Given the description of an element on the screen output the (x, y) to click on. 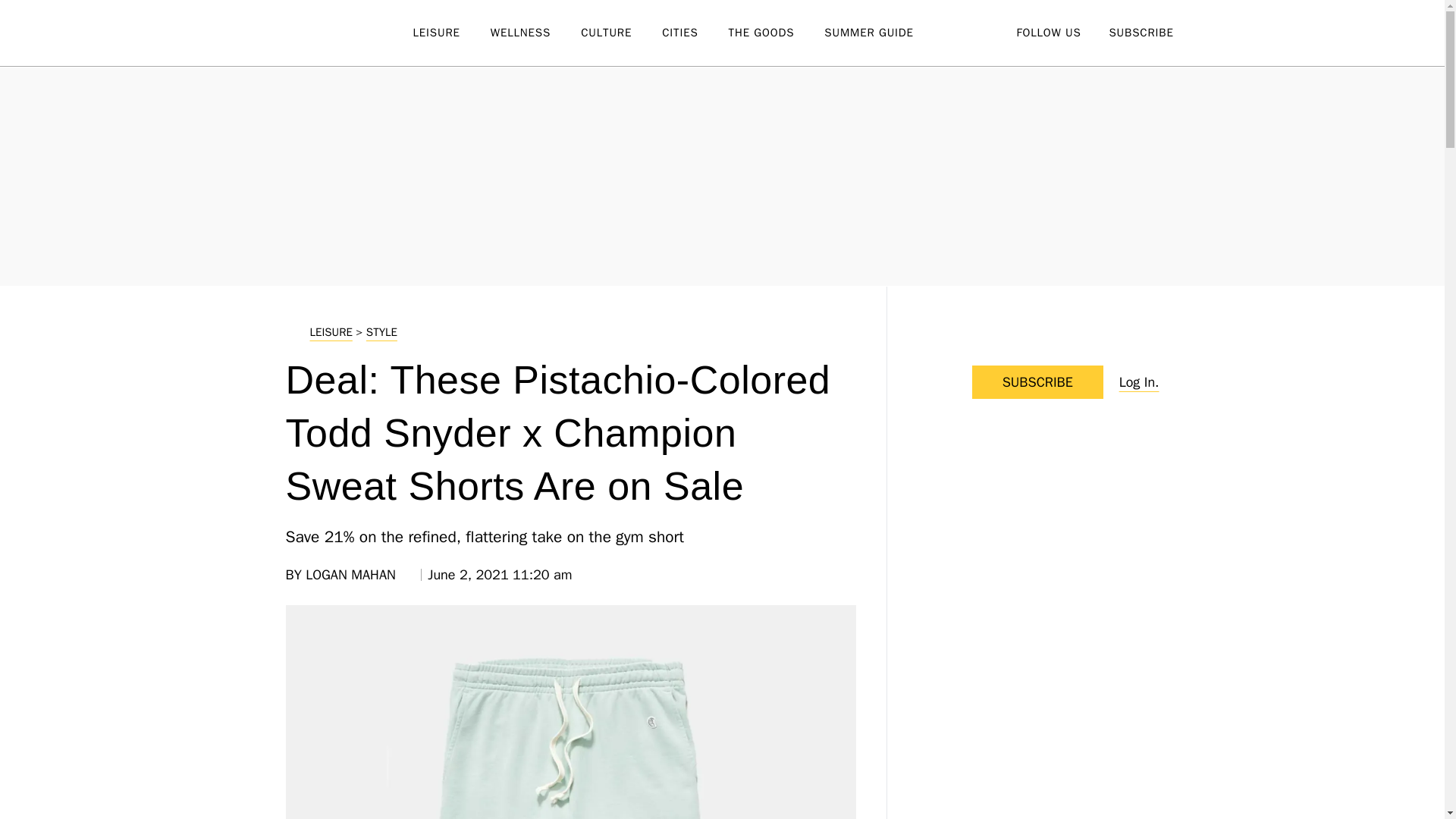
FOLLOW US (1048, 32)
SUBSCRIBE (1140, 32)
THE GOODS (777, 32)
CITIES (695, 32)
WELLNESS (535, 32)
CULTURE (621, 32)
LEISURE (450, 32)
SUMMER GUIDE (883, 32)
